Given the description of an element on the screen output the (x, y) to click on. 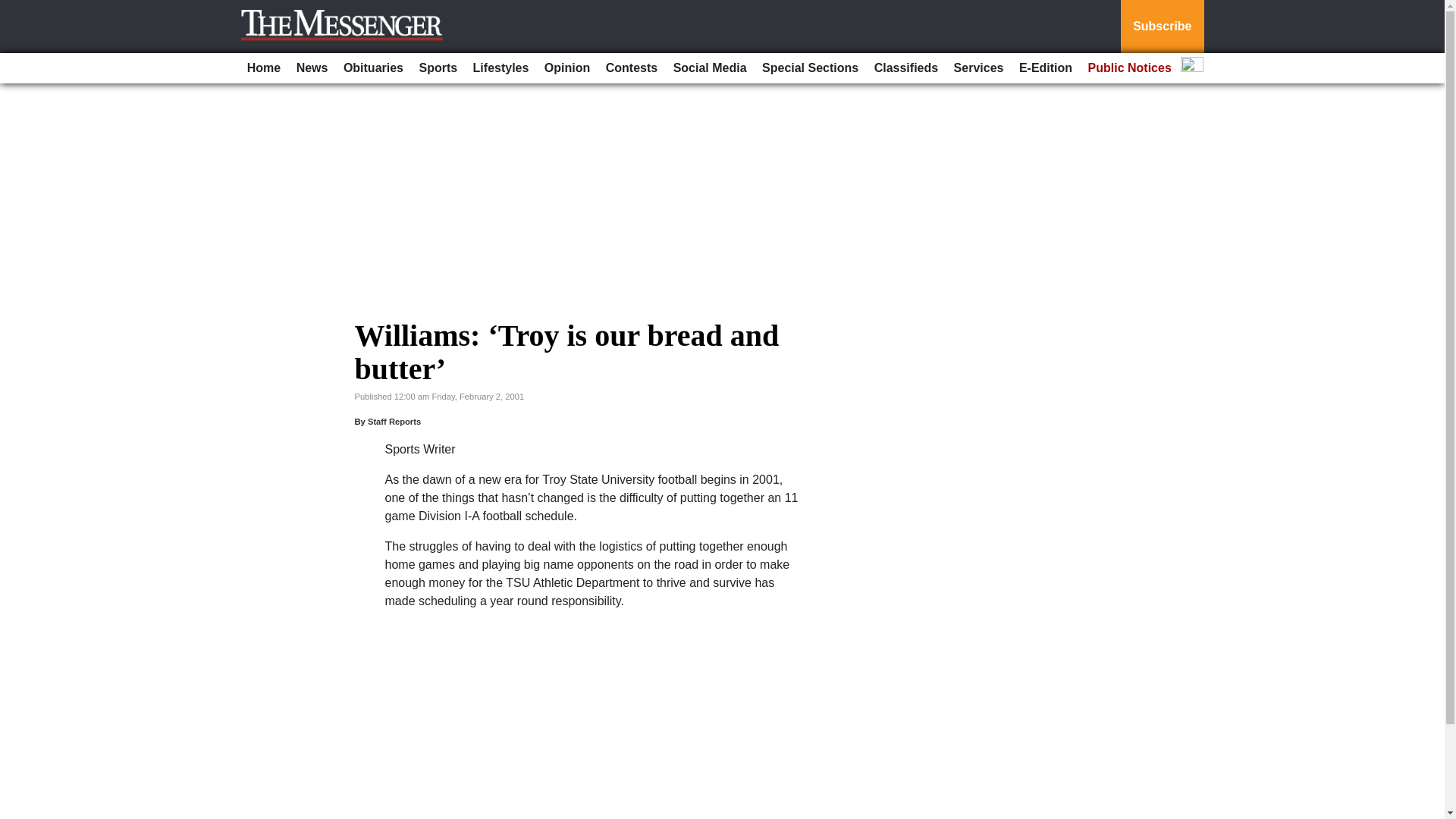
Subscribe (1162, 26)
Special Sections (809, 68)
Public Notices (1129, 68)
Contests (631, 68)
News (311, 68)
Sports (437, 68)
Obituaries (373, 68)
Home (263, 68)
Services (978, 68)
Classifieds (905, 68)
